Given the description of an element on the screen output the (x, y) to click on. 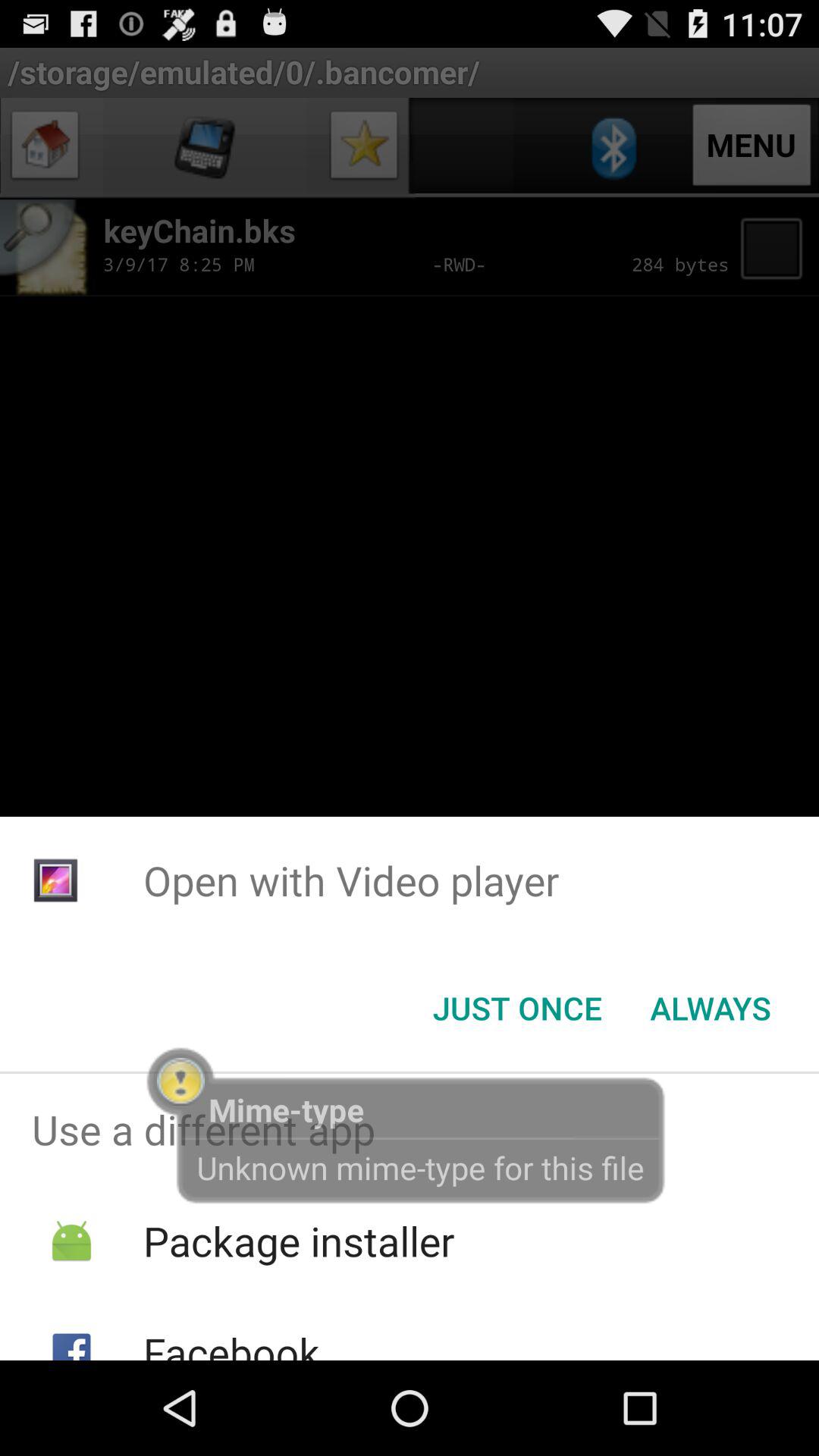
launch use a different (409, 1129)
